Given the description of an element on the screen output the (x, y) to click on. 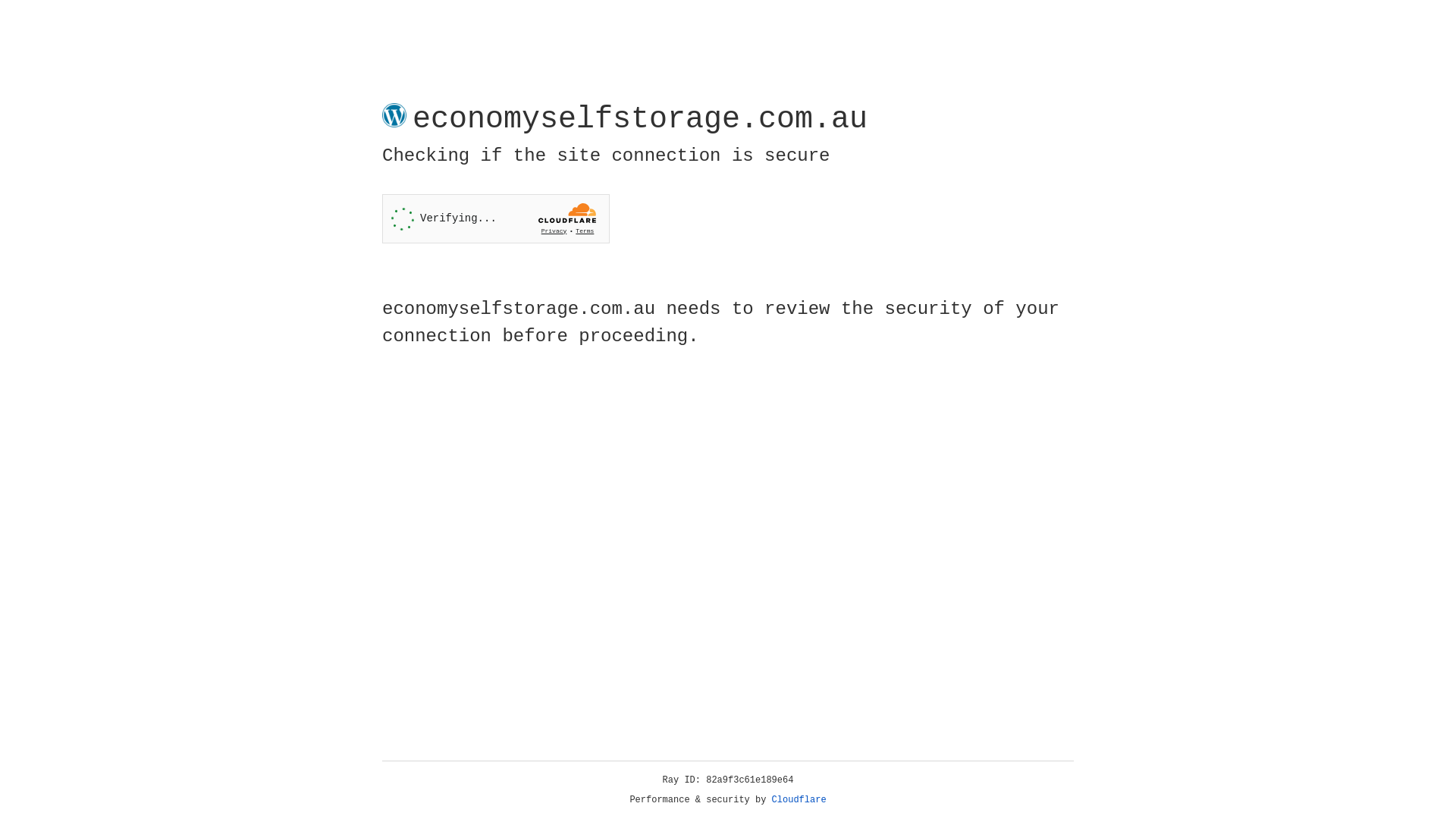
Cloudflare Element type: text (798, 799)
Widget containing a Cloudflare security challenge Element type: hover (495, 218)
